Given the description of an element on the screen output the (x, y) to click on. 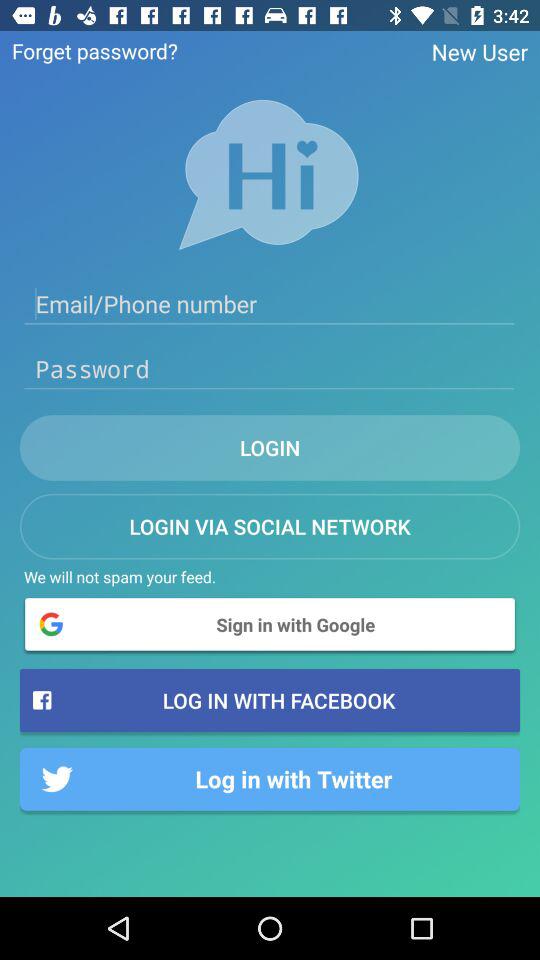
go to password (269, 369)
